Given the description of an element on the screen output the (x, y) to click on. 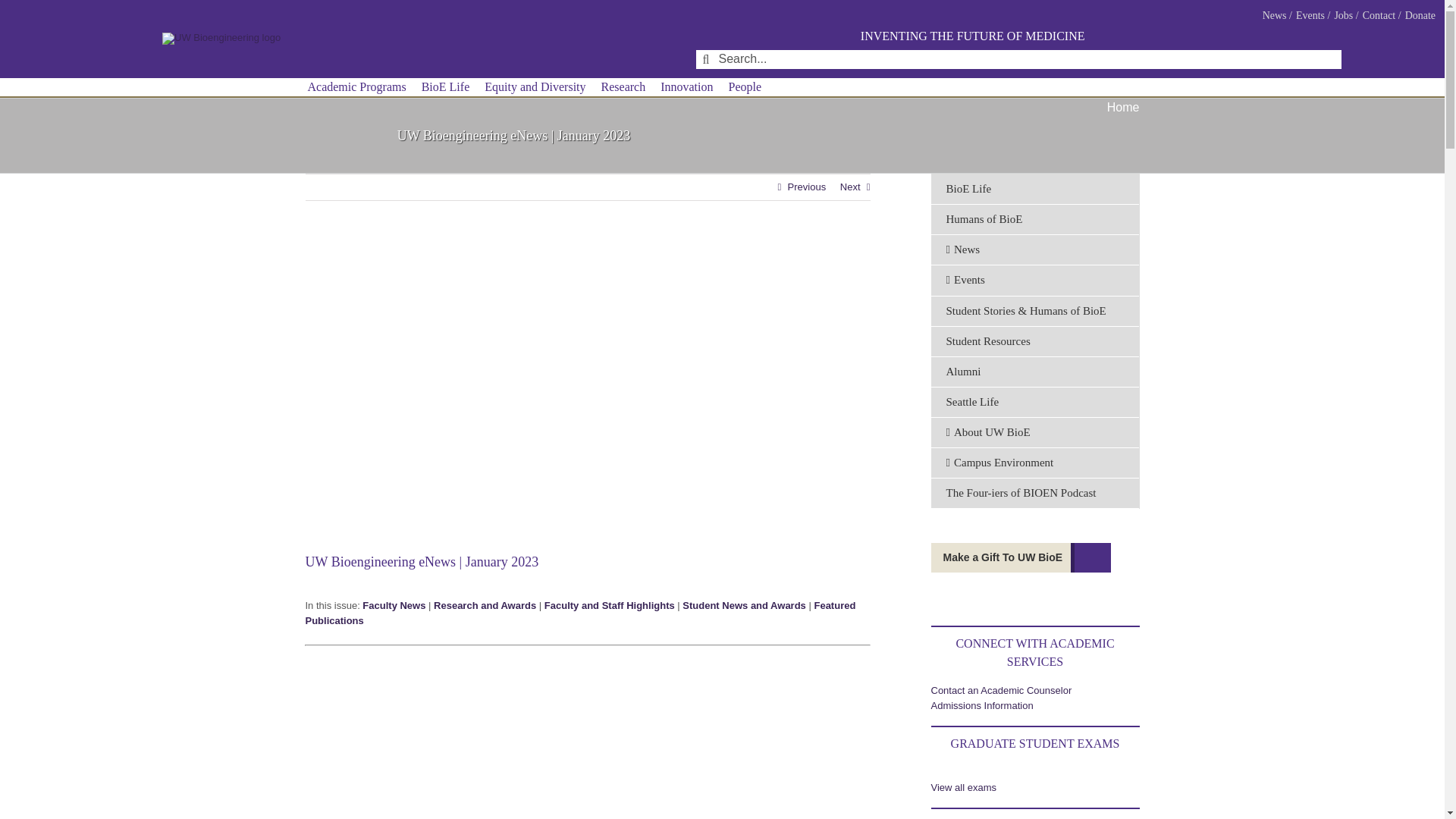
Donate (1420, 15)
Academic Programs (355, 87)
Back to Parent Page (1034, 189)
